Given the description of an element on the screen output the (x, y) to click on. 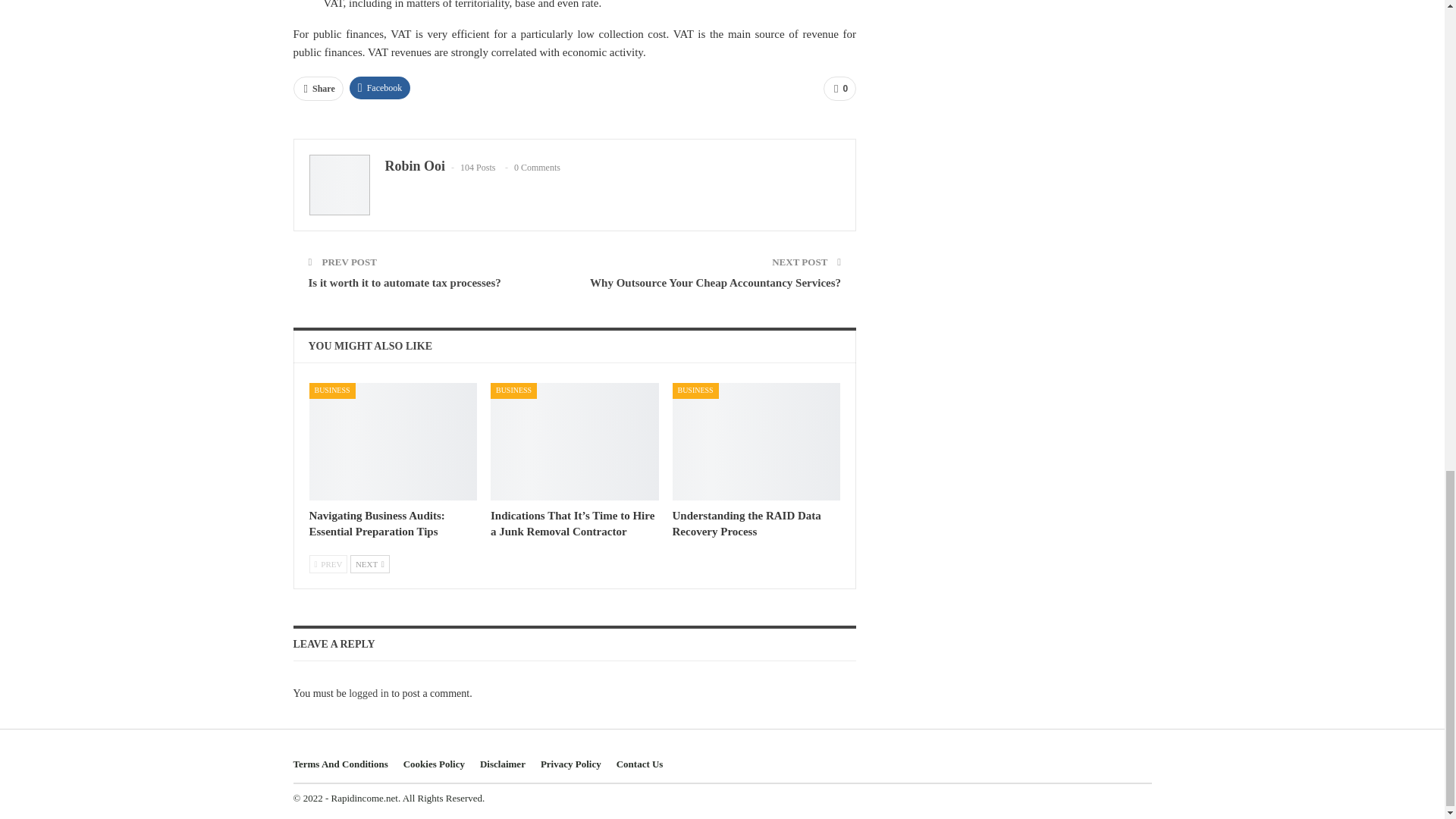
Understanding the RAID Data Recovery Process (746, 523)
Navigating Business Audits: Essential Preparation Tips (392, 441)
Understanding the RAID Data Recovery Process (756, 441)
Navigating Business Audits: Essential Preparation Tips (376, 523)
BUSINESS (331, 390)
0 (840, 88)
Facebook (379, 87)
YOU MIGHT ALSO LIKE (369, 345)
BUSINESS (695, 390)
Is it worth it to automate tax processes? (403, 282)
